Given the description of an element on the screen output the (x, y) to click on. 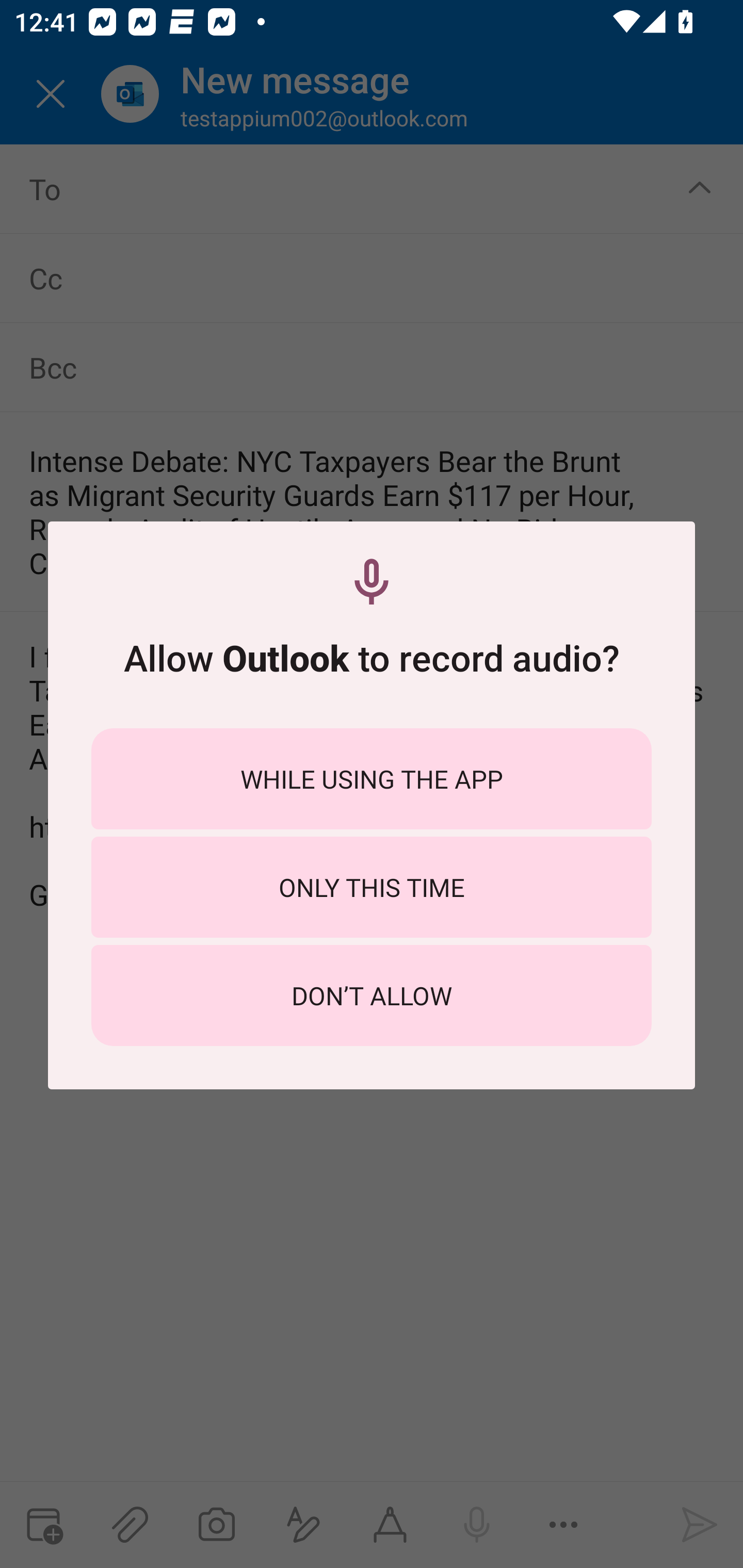
WHILE USING THE APP (371, 778)
ONLY THIS TIME (371, 887)
DON’T ALLOW (371, 995)
